Given the description of an element on the screen output the (x, y) to click on. 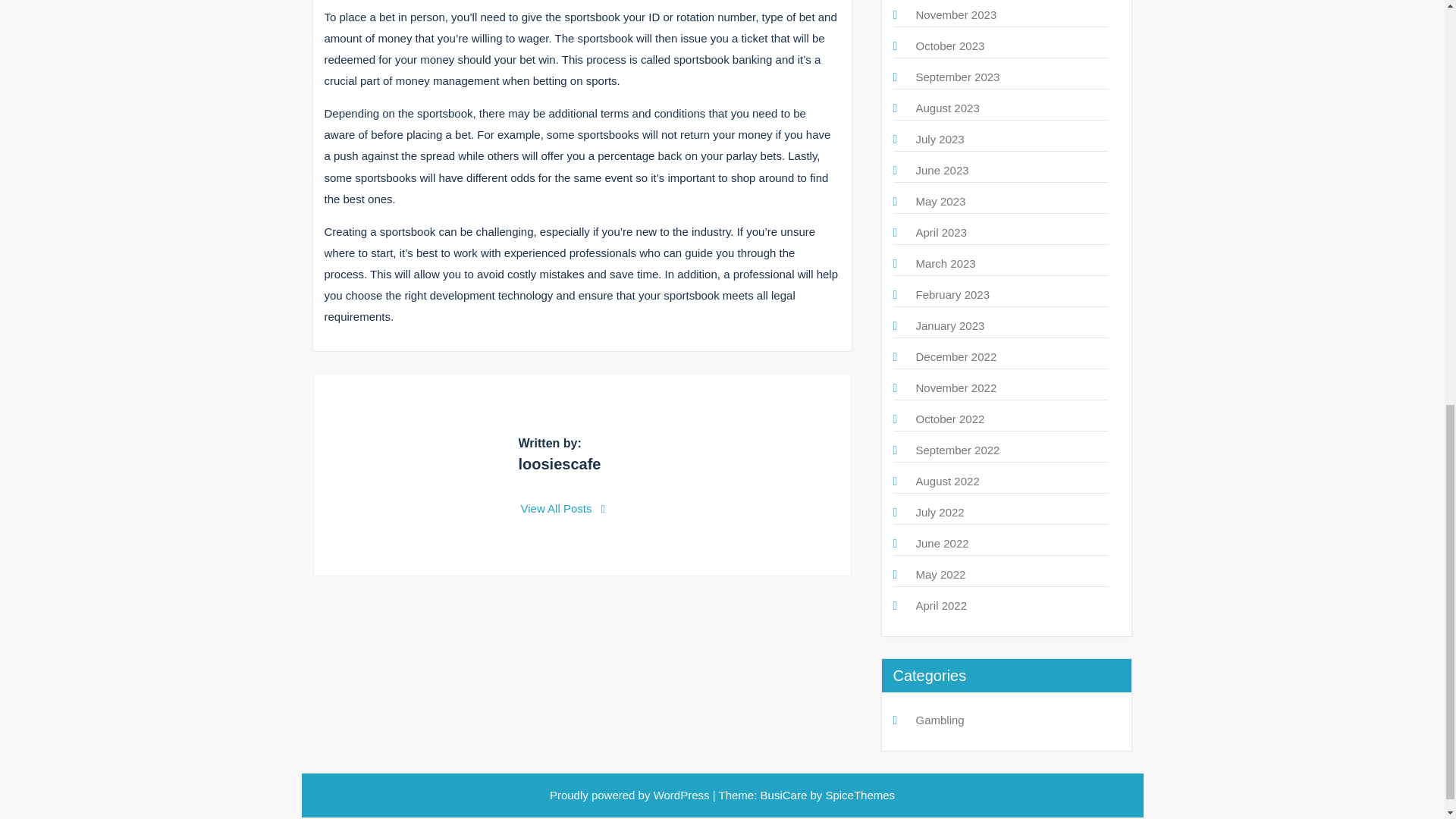
September 2022 (957, 449)
April 2022 (941, 604)
May 2022 (940, 574)
View All Posts (562, 508)
June 2022 (942, 543)
May 2023 (940, 201)
August 2022 (947, 481)
February 2023 (952, 294)
June 2023 (942, 169)
July 2023 (939, 138)
October 2023 (950, 45)
November 2022 (956, 387)
December 2022 (956, 356)
November 2023 (956, 14)
WordPress (681, 794)
